Given the description of an element on the screen output the (x, y) to click on. 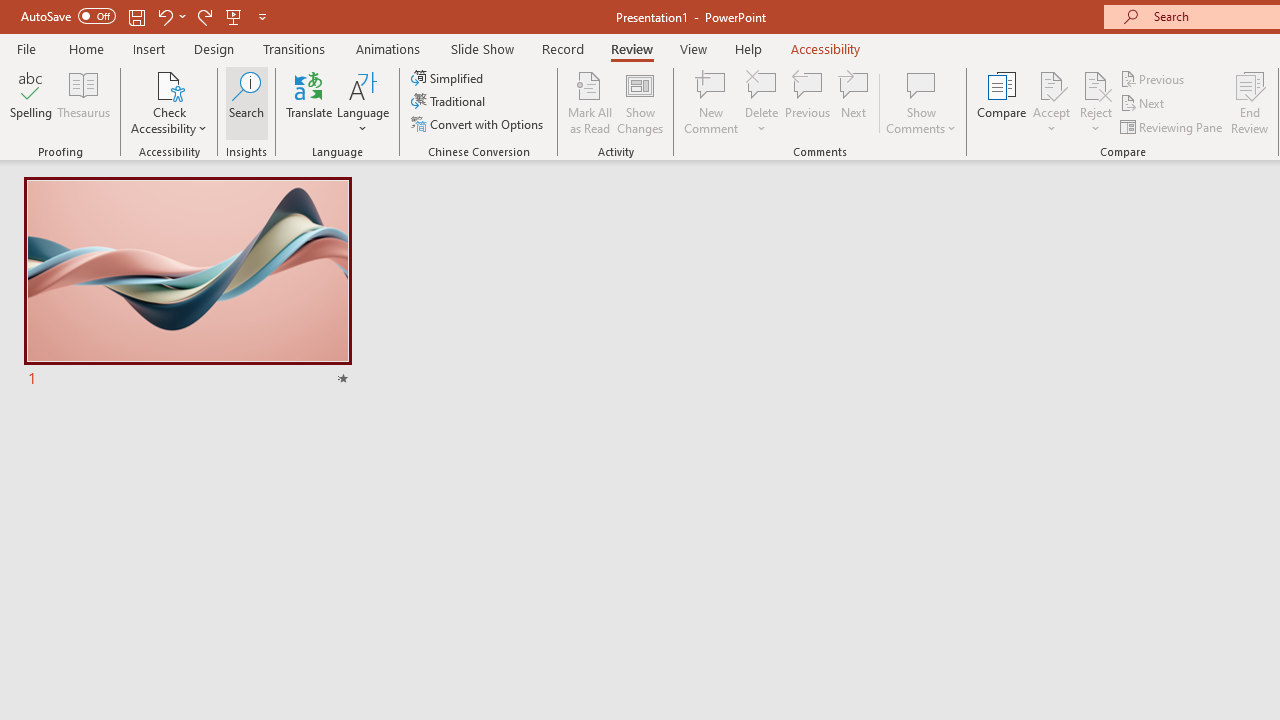
Compare (1002, 102)
Next (1144, 103)
Show Comments (921, 84)
Accept Change (1051, 84)
Delete (762, 102)
Simplified (449, 78)
Previous (1153, 78)
Check Accessibility (169, 84)
Accept (1051, 102)
